Given the description of an element on the screen output the (x, y) to click on. 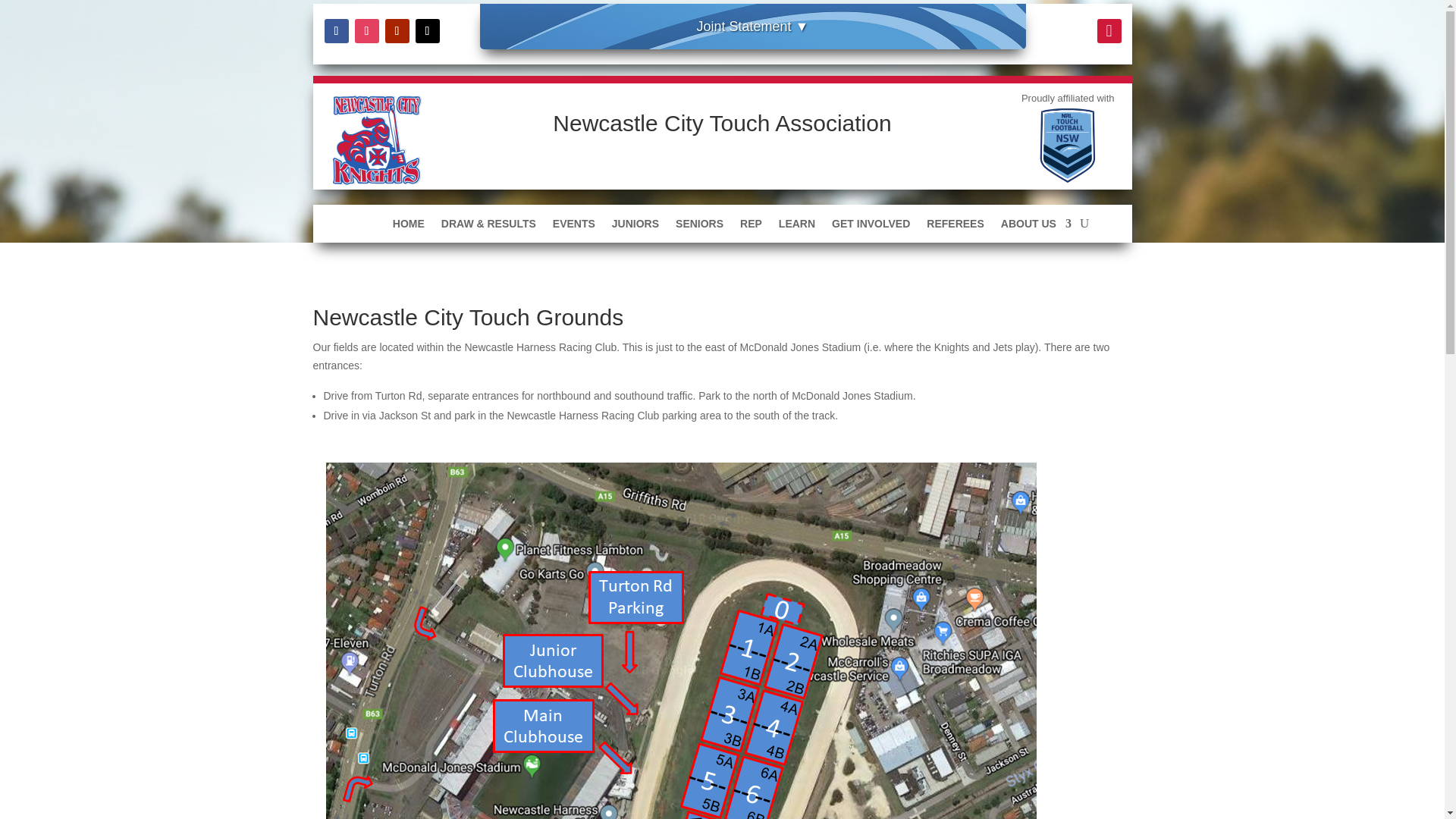
Follow on X (426, 30)
GET INVOLVED (870, 226)
HOME (409, 226)
ABOUT US (1036, 226)
REFEREES (955, 226)
SENIORS (699, 226)
REP (750, 226)
Follow on Facebook (336, 30)
JUNIORS (635, 226)
Follow on Instagram (366, 30)
LEARN (796, 226)
Follow on Youtube (397, 30)
EVENTS (574, 226)
